Given the description of an element on the screen output the (x, y) to click on. 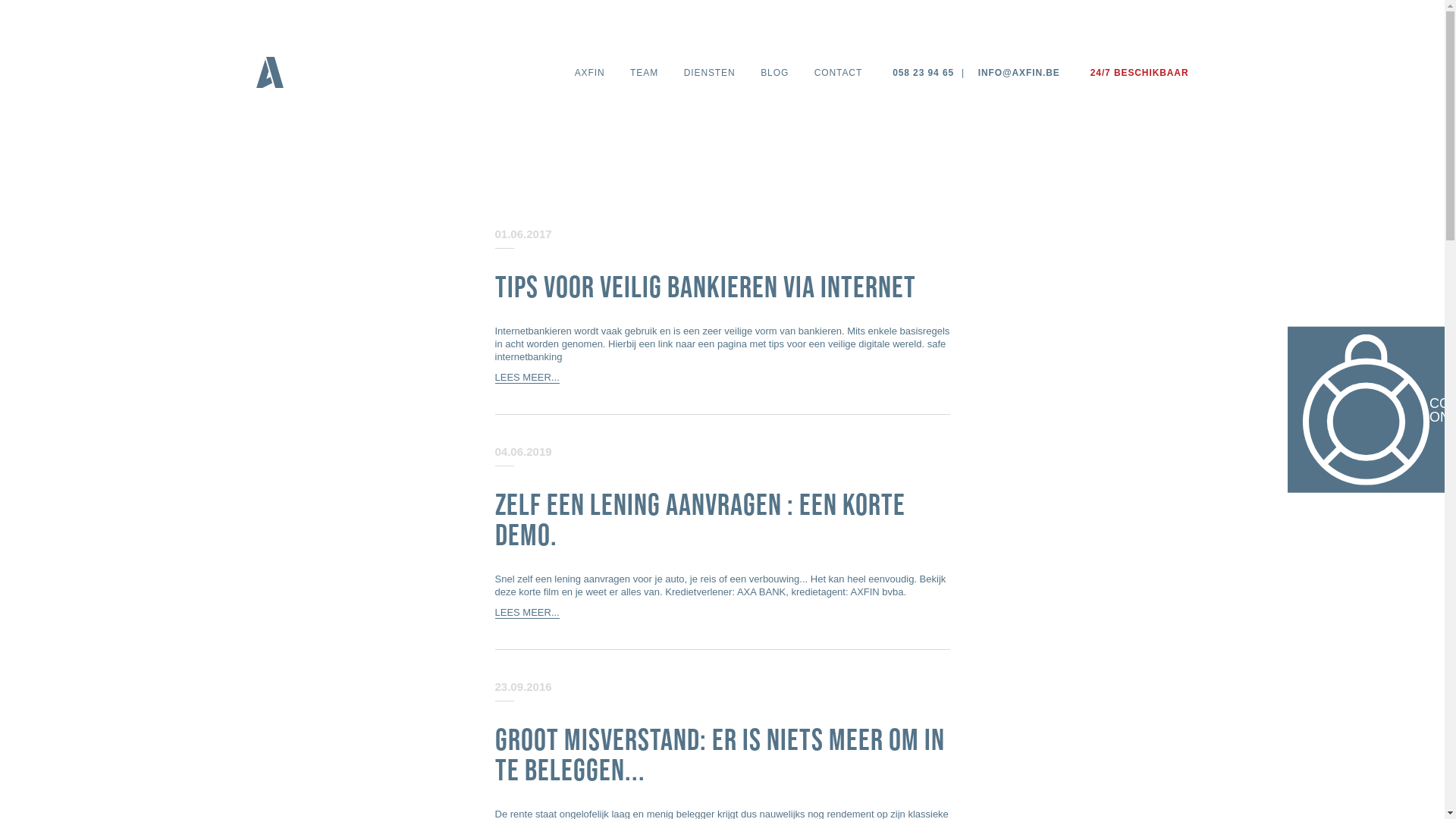
CONTACTEER ONS Element type: text (1365, 409)
BLOG Element type: text (774, 72)
058 23 94 65 Element type: text (922, 72)
AXFIN Element type: text (589, 72)
DIENSTEN Element type: text (709, 72)
CONTACT Element type: text (838, 72)
TEAM Element type: text (644, 72)
INFO@AXFIN.BE Element type: text (1019, 72)
